Given the description of an element on the screen output the (x, y) to click on. 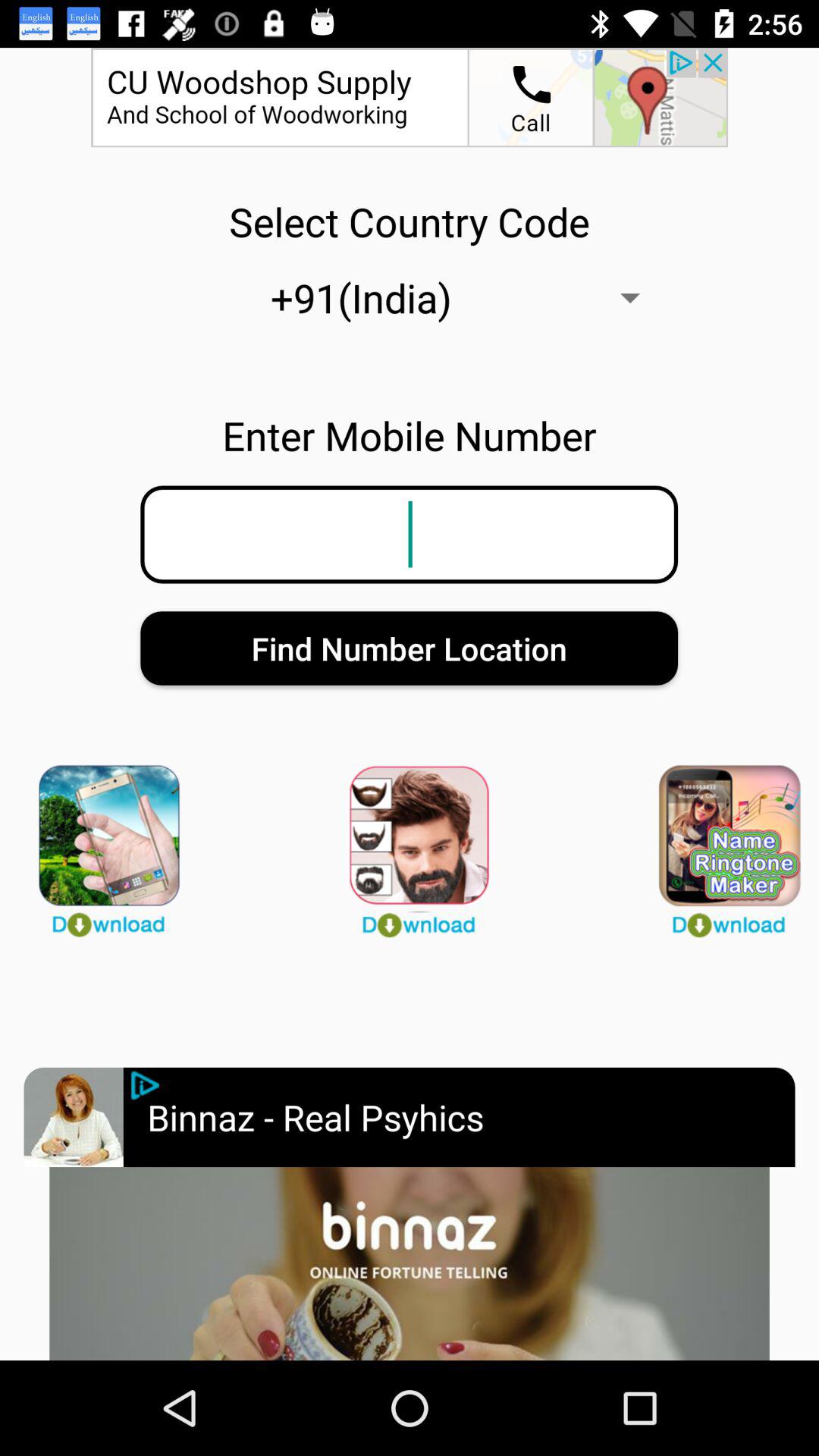
enter phone number (408, 534)
